Given the description of an element on the screen output the (x, y) to click on. 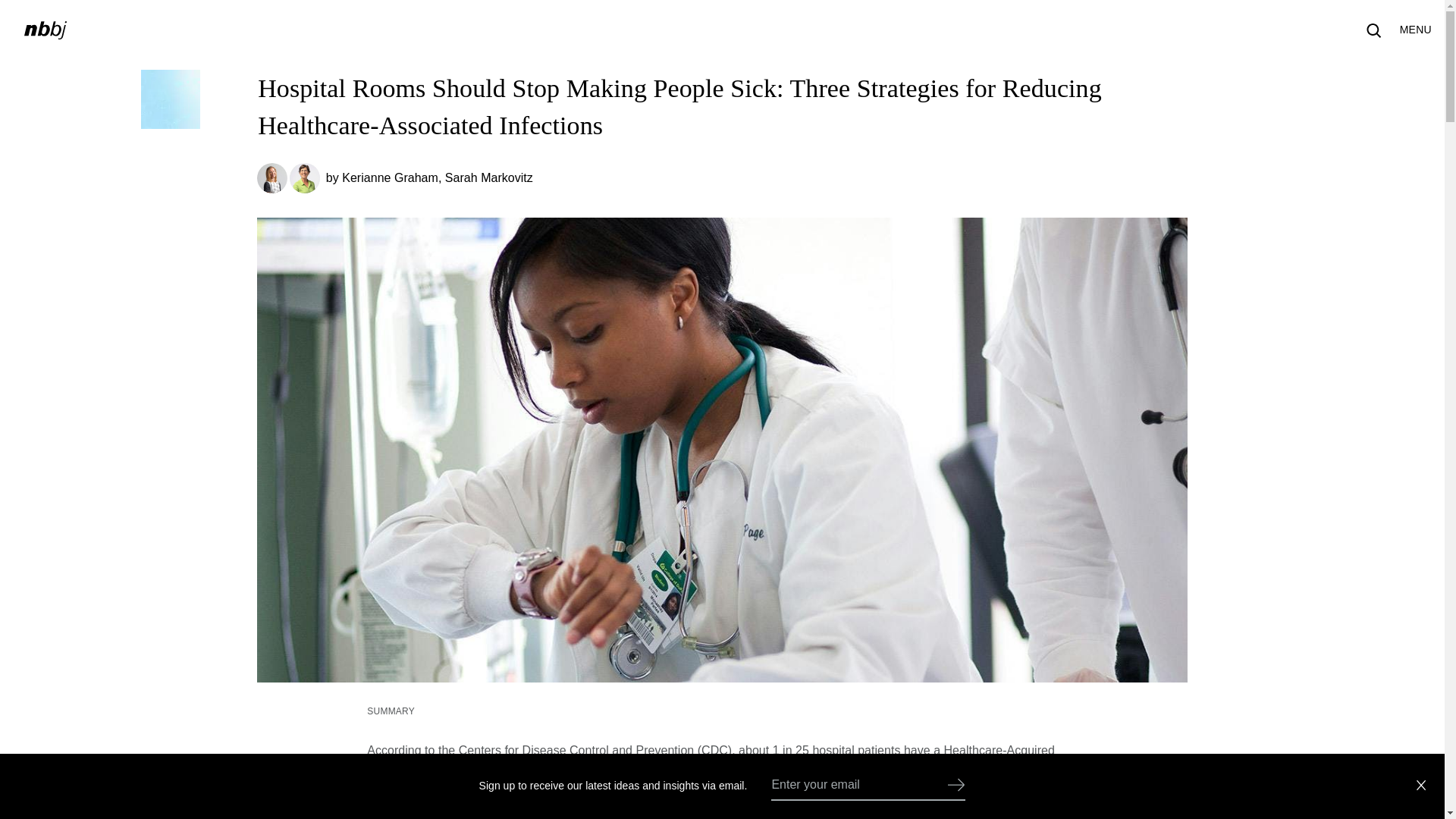
Sarah Markovitz (488, 177)
Skip to content (47, 55)
MENU (1415, 29)
Kerianne Graham (390, 177)
